Given the description of an element on the screen output the (x, y) to click on. 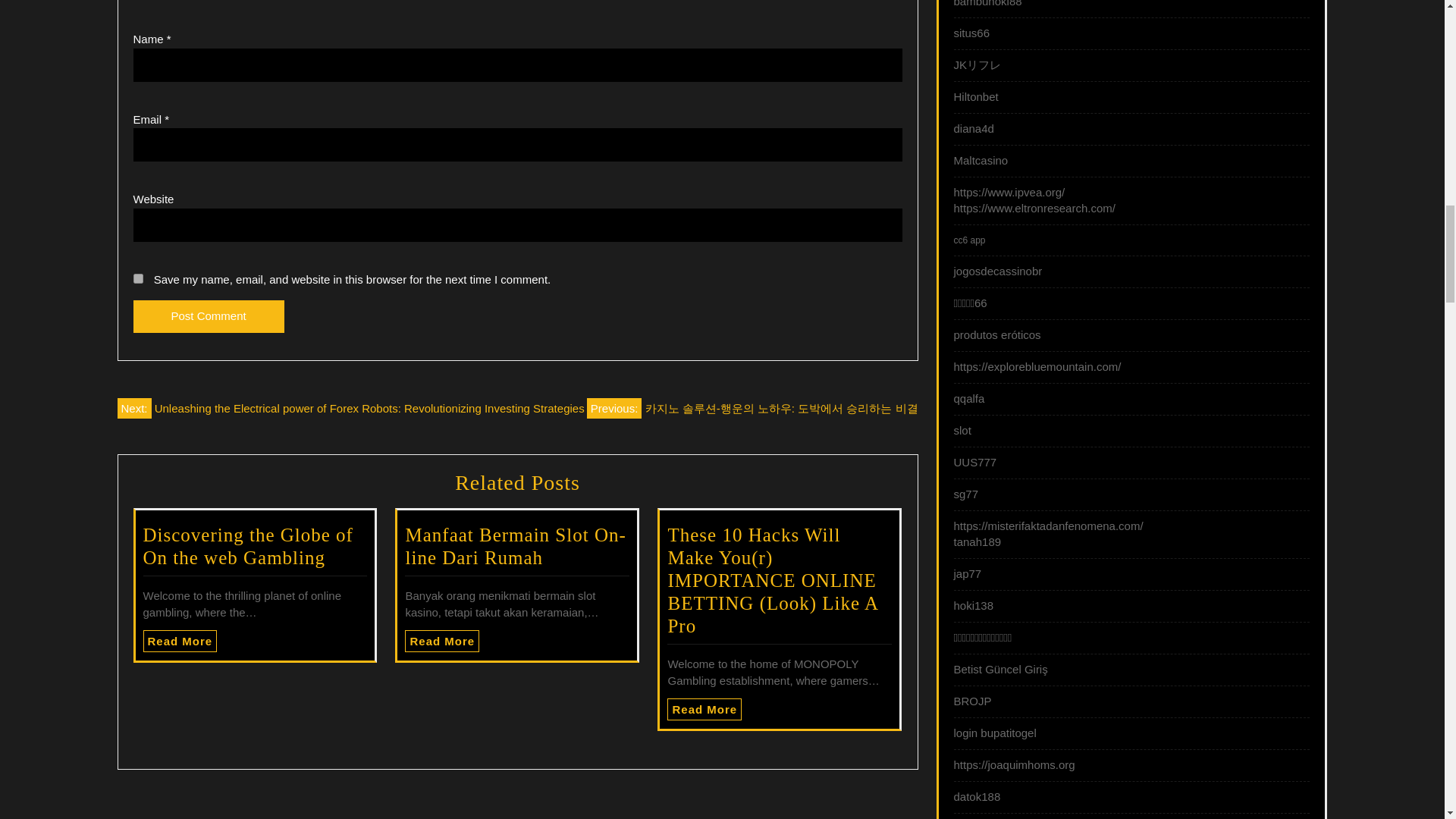
Read More (179, 640)
Read More (441, 640)
Discovering the Globe of On the web Gambling (247, 546)
Discovering the Globe of On the web Gambling (247, 546)
situs66 (971, 32)
yes (137, 278)
Read More (703, 709)
Read More (441, 640)
bambuhoki88 (987, 3)
